Given the description of an element on the screen output the (x, y) to click on. 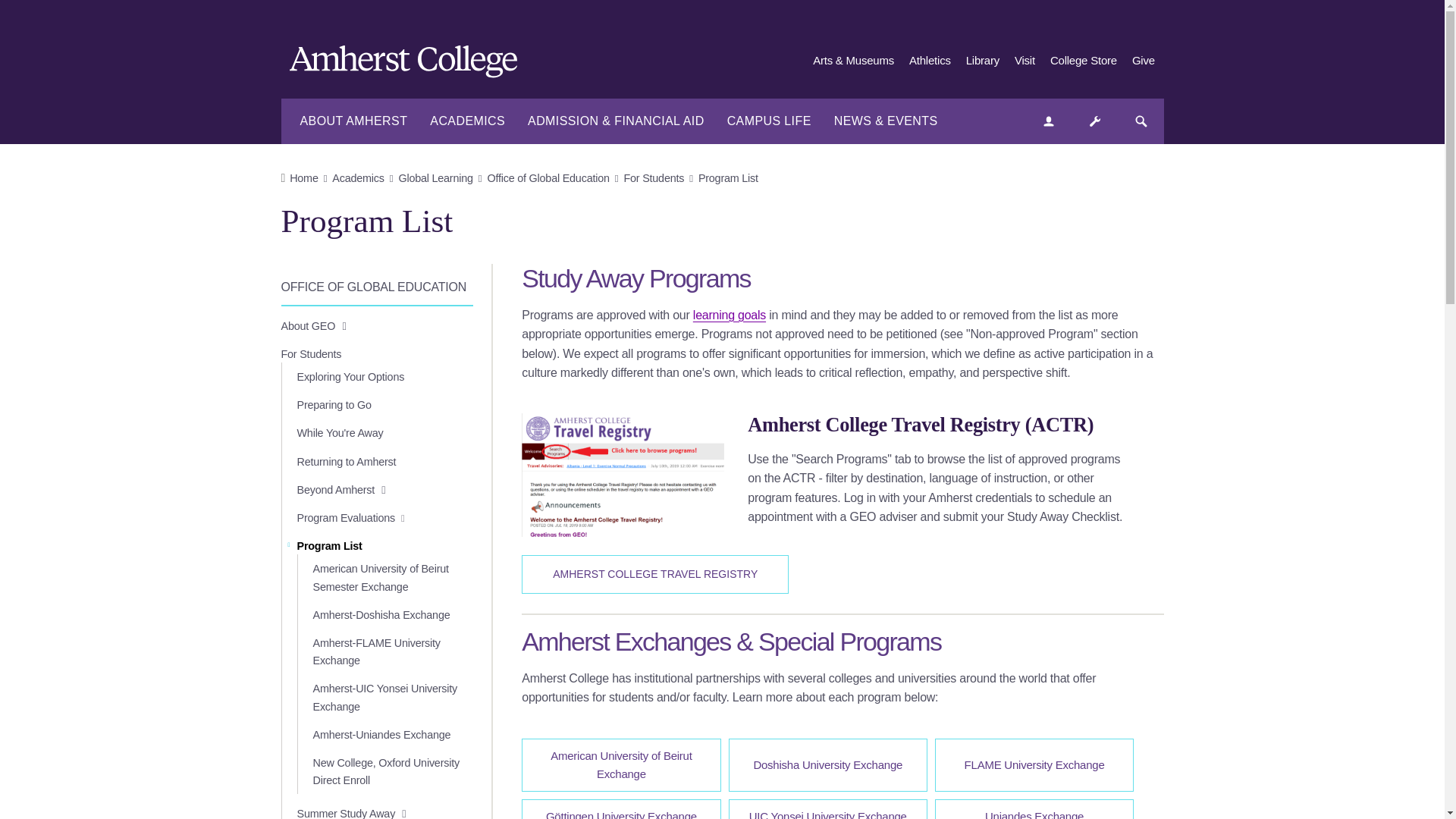
Visit (1024, 60)
Athletics (929, 60)
CAMPUS LIFE (768, 121)
Give (1143, 60)
ACADEMICS (467, 121)
Amherst College (410, 64)
Library (982, 60)
College Store (1082, 60)
ABOUT AMHERST (353, 121)
